Given the description of an element on the screen output the (x, y) to click on. 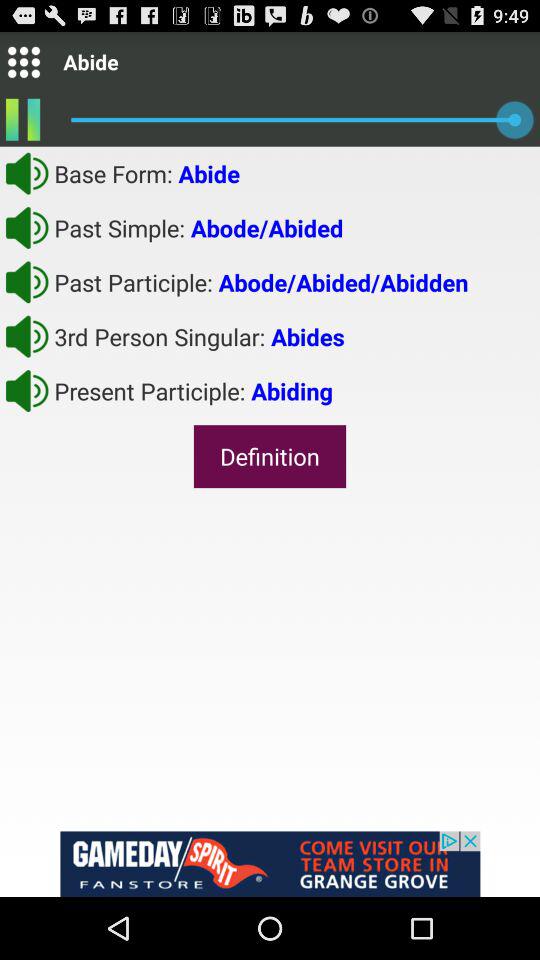
for audio option (27, 173)
